Given the description of an element on the screen output the (x, y) to click on. 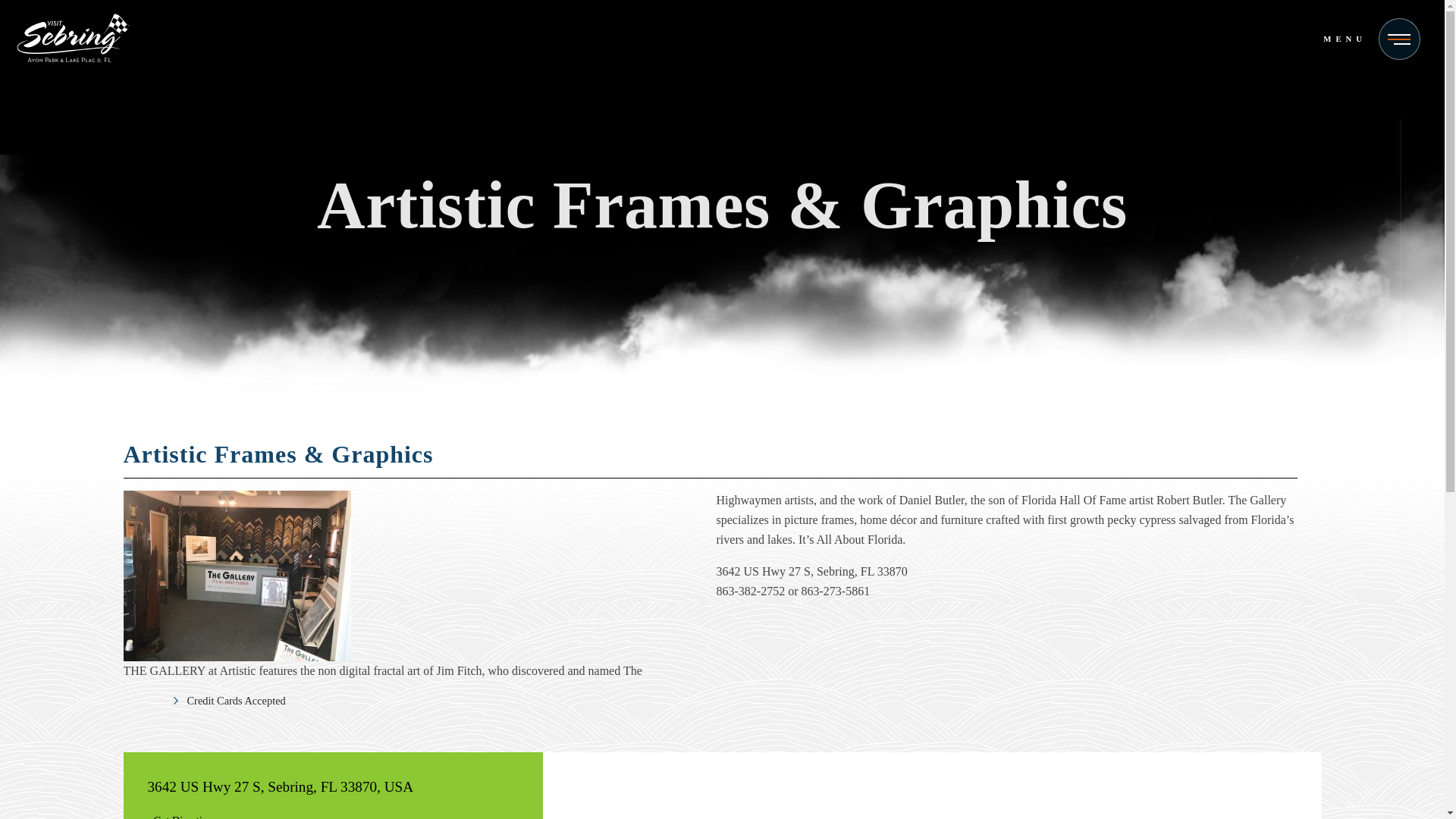
Go to Sebring homepage (72, 40)
